Given the description of an element on the screen output the (x, y) to click on. 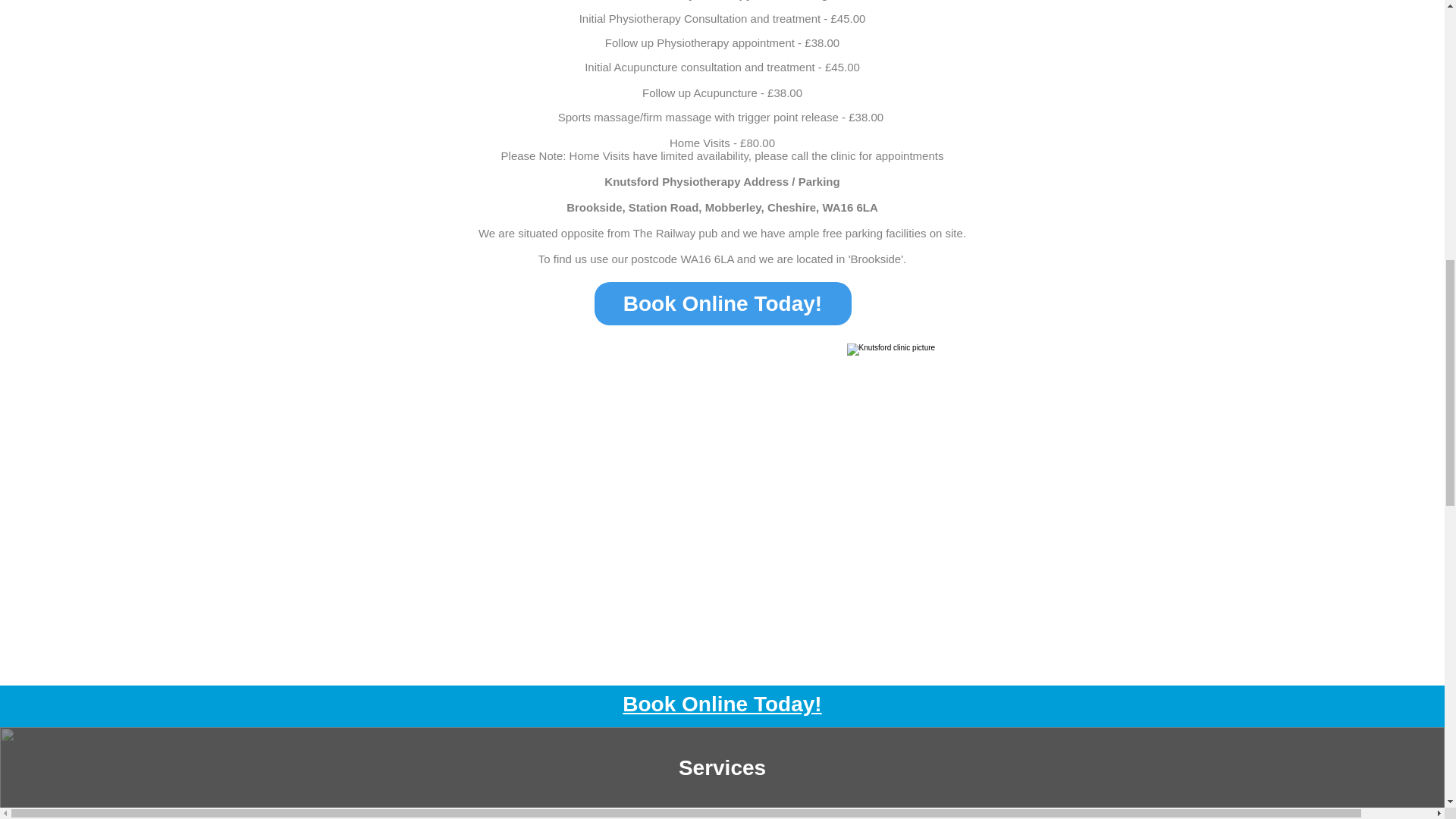
Book Online Today! (722, 303)
Book Online Today! (722, 703)
